Given the description of an element on the screen output the (x, y) to click on. 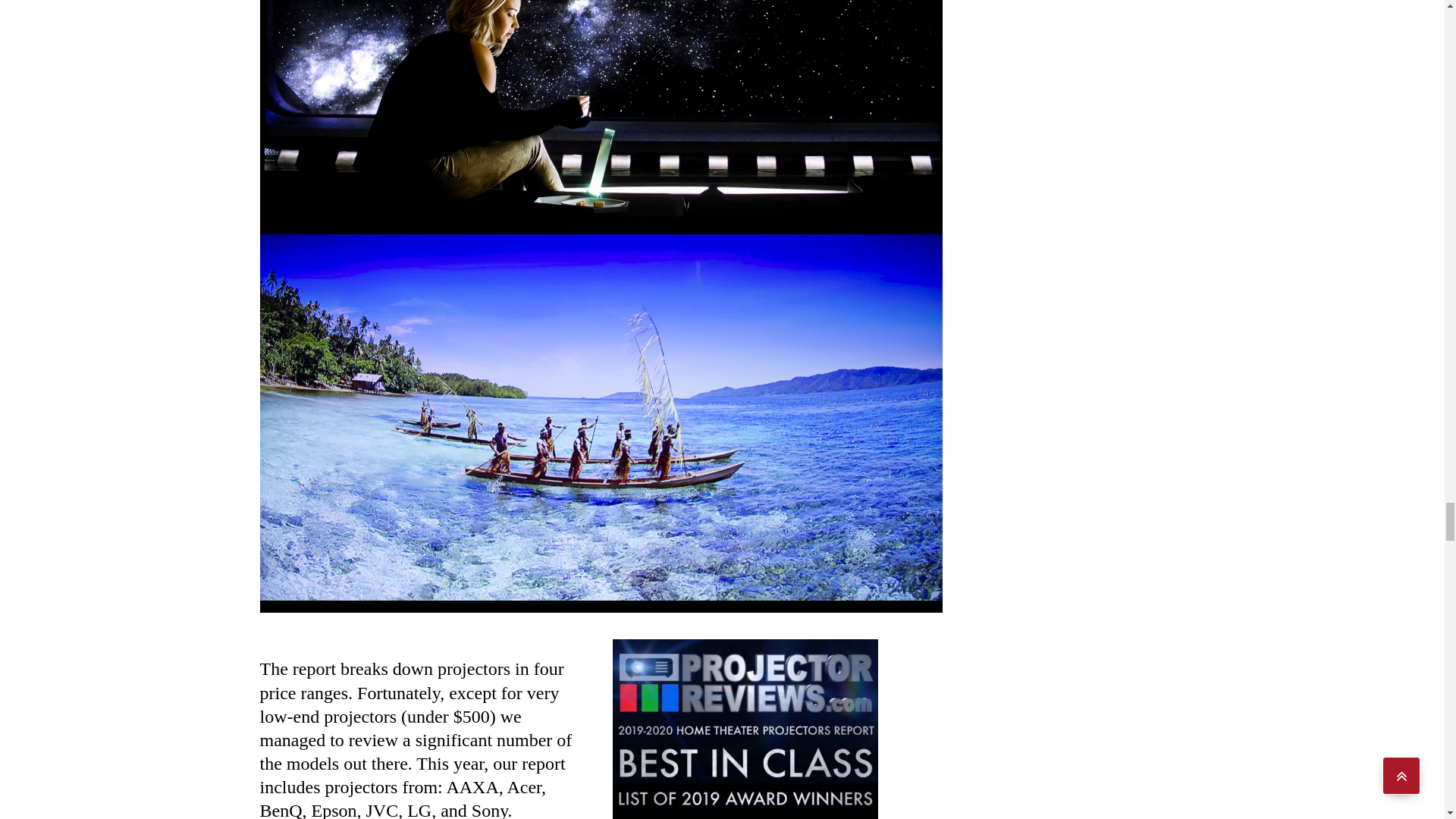
Home-Theater-Report-Best-in-Class-List-of-Winners (744, 729)
